Given the description of an element on the screen output the (x, y) to click on. 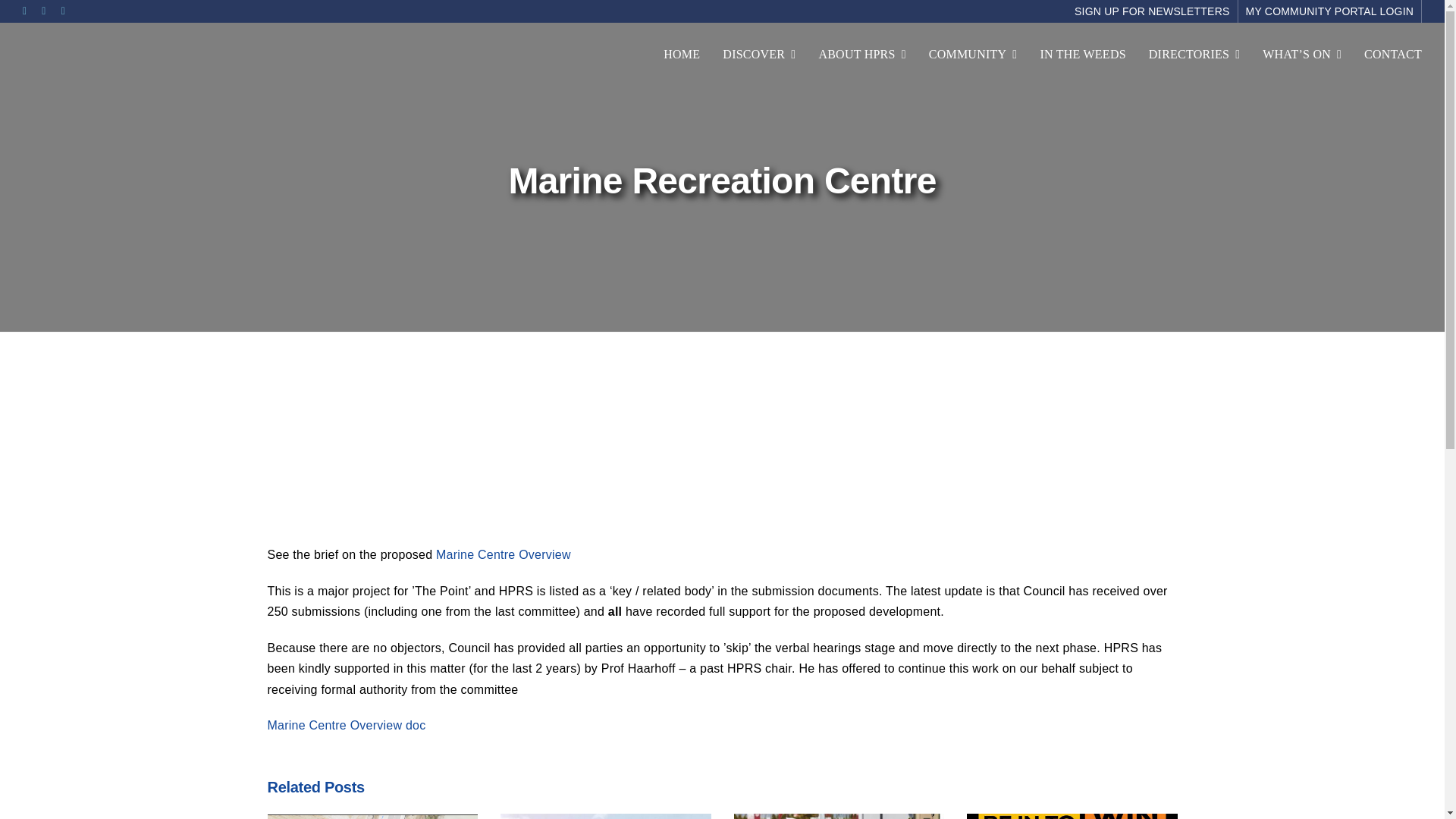
DISCOVER (758, 54)
IN THE WEEDS (1082, 54)
ABOUT HPRS (861, 54)
MY COMMUNITY PORTAL LOGIN (1330, 11)
DIRECTORIES (1194, 54)
COMMUNITY (972, 54)
SIGN UP FOR NEWSLETTERS (1153, 11)
HOME (681, 54)
